Given the description of an element on the screen output the (x, y) to click on. 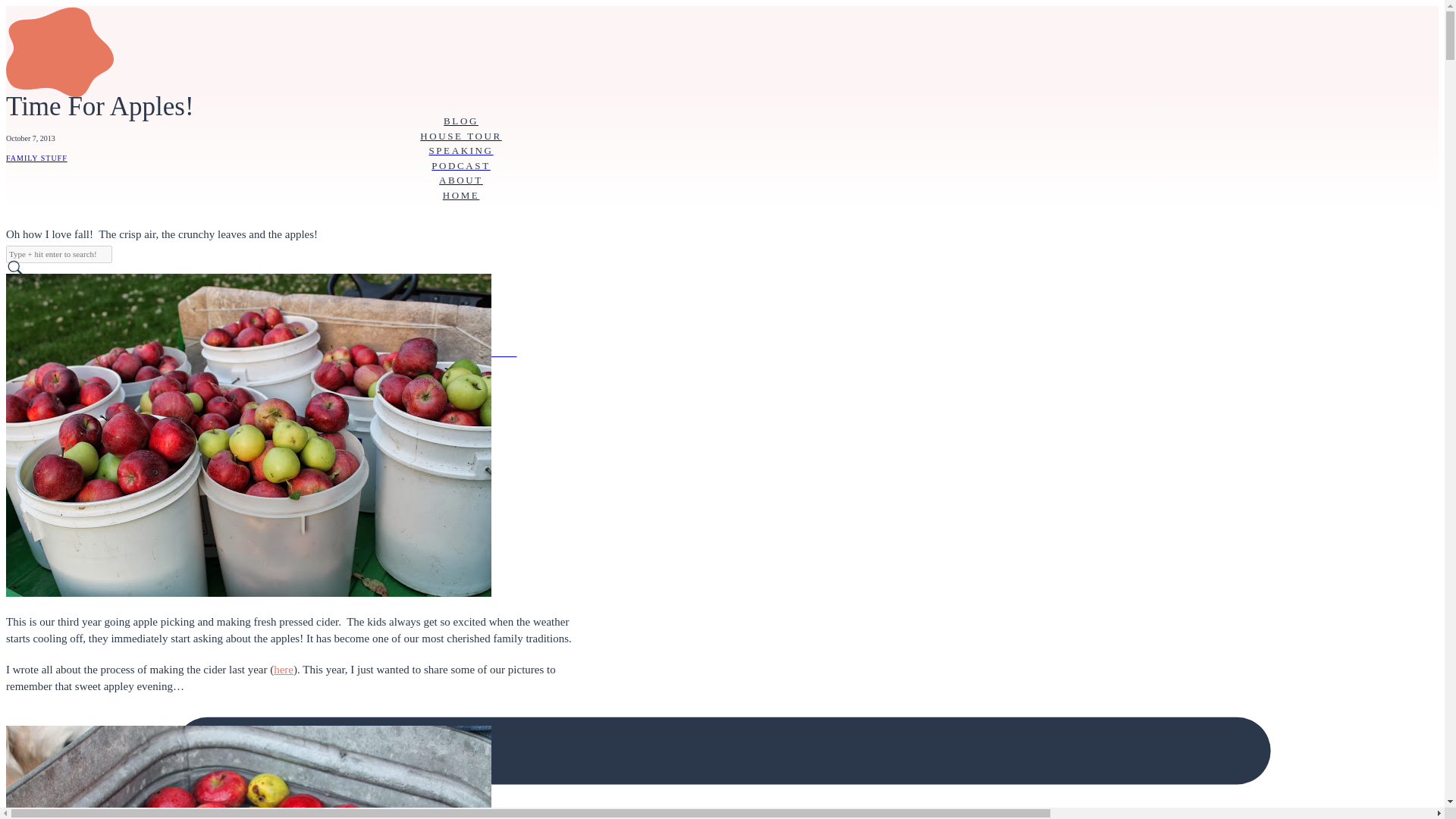
HOME (460, 195)
ABOUT (460, 180)
BLOG (460, 120)
MORE ABOUT ME (460, 351)
SPEAKING (460, 150)
PODCAST (460, 165)
HOUSE TOUR (460, 136)
FAMILY STUFF (35, 157)
